Given the description of an element on the screen output the (x, y) to click on. 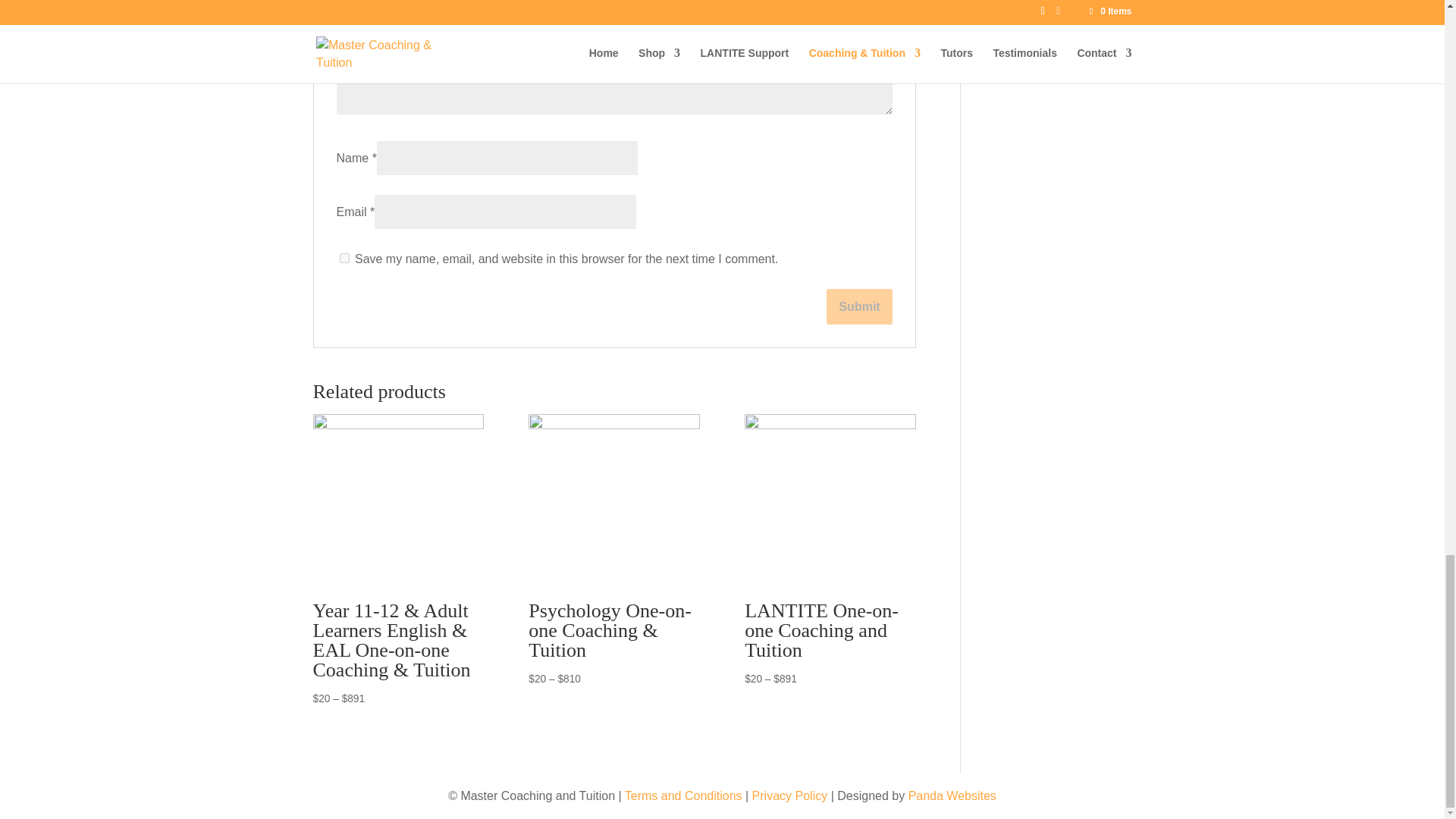
Submit (859, 306)
yes (344, 257)
Submit (859, 306)
